Given the description of an element on the screen output the (x, y) to click on. 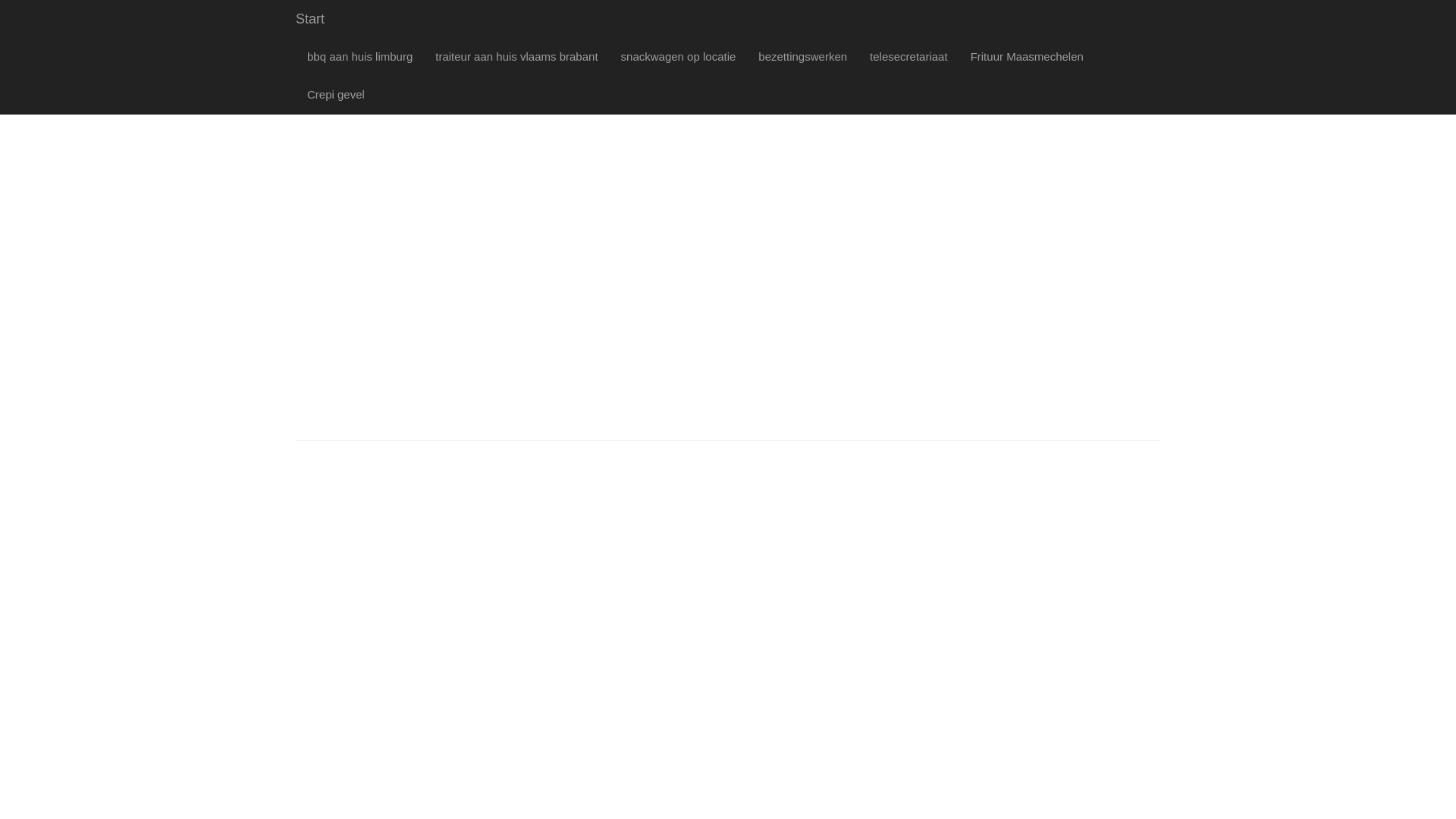
traiteur aan huis vlaams brabant Element type: text (515, 56)
telesecretariaat Element type: text (908, 56)
snackwagen op locatie Element type: text (678, 56)
bbq aan huis limburg Element type: text (359, 56)
Start Element type: text (309, 18)
Crepi gevel Element type: text (335, 94)
Frituur Maasmechelen Element type: text (1027, 56)
bezettingswerken Element type: text (802, 56)
